Given the description of an element on the screen output the (x, y) to click on. 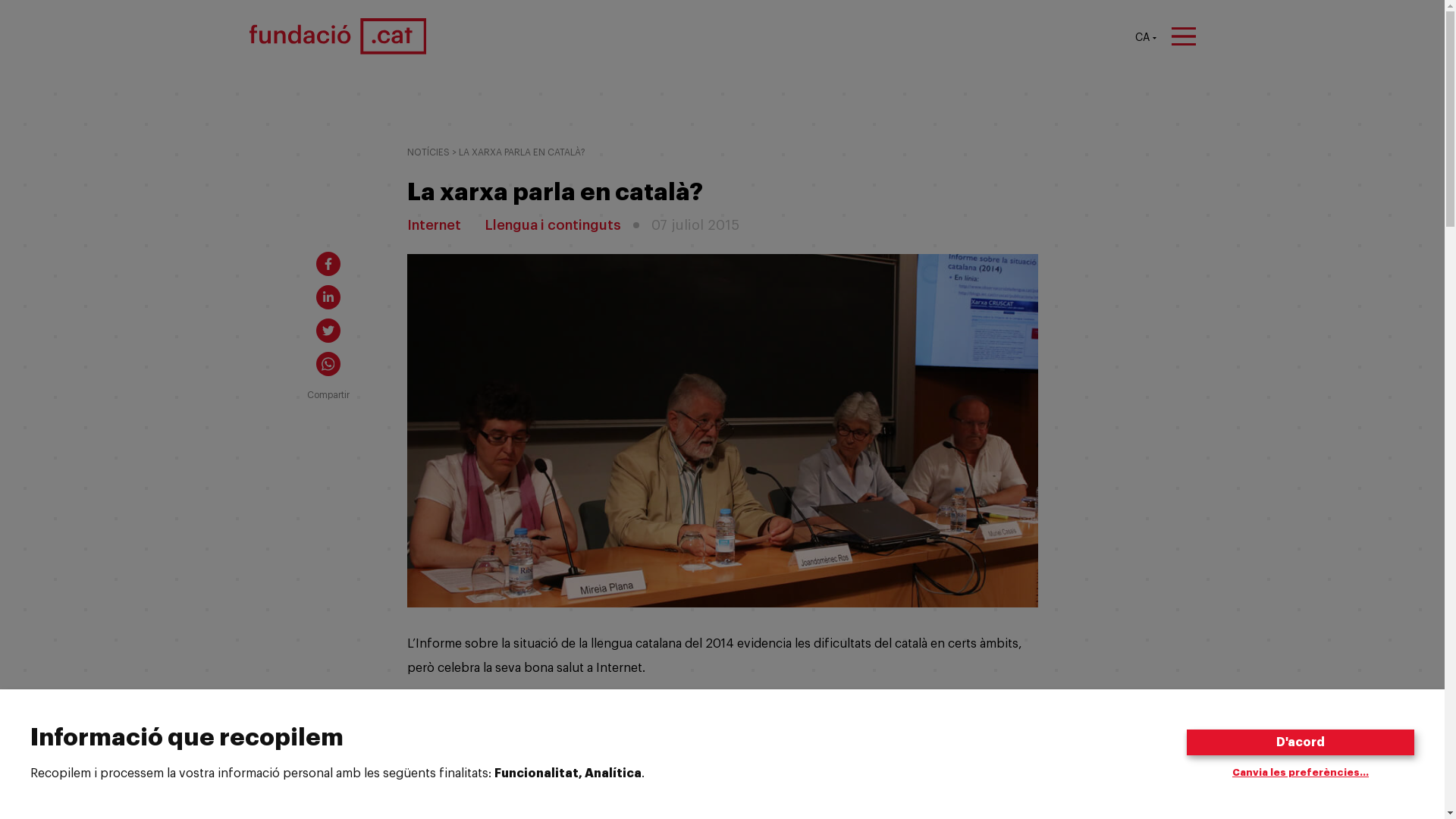
Llengua i continguts Element type: text (553, 225)
D'acord Element type: text (1300, 742)
dominis .cat Element type: text (601, 806)
Internet Element type: text (433, 225)
